Given the description of an element on the screen output the (x, y) to click on. 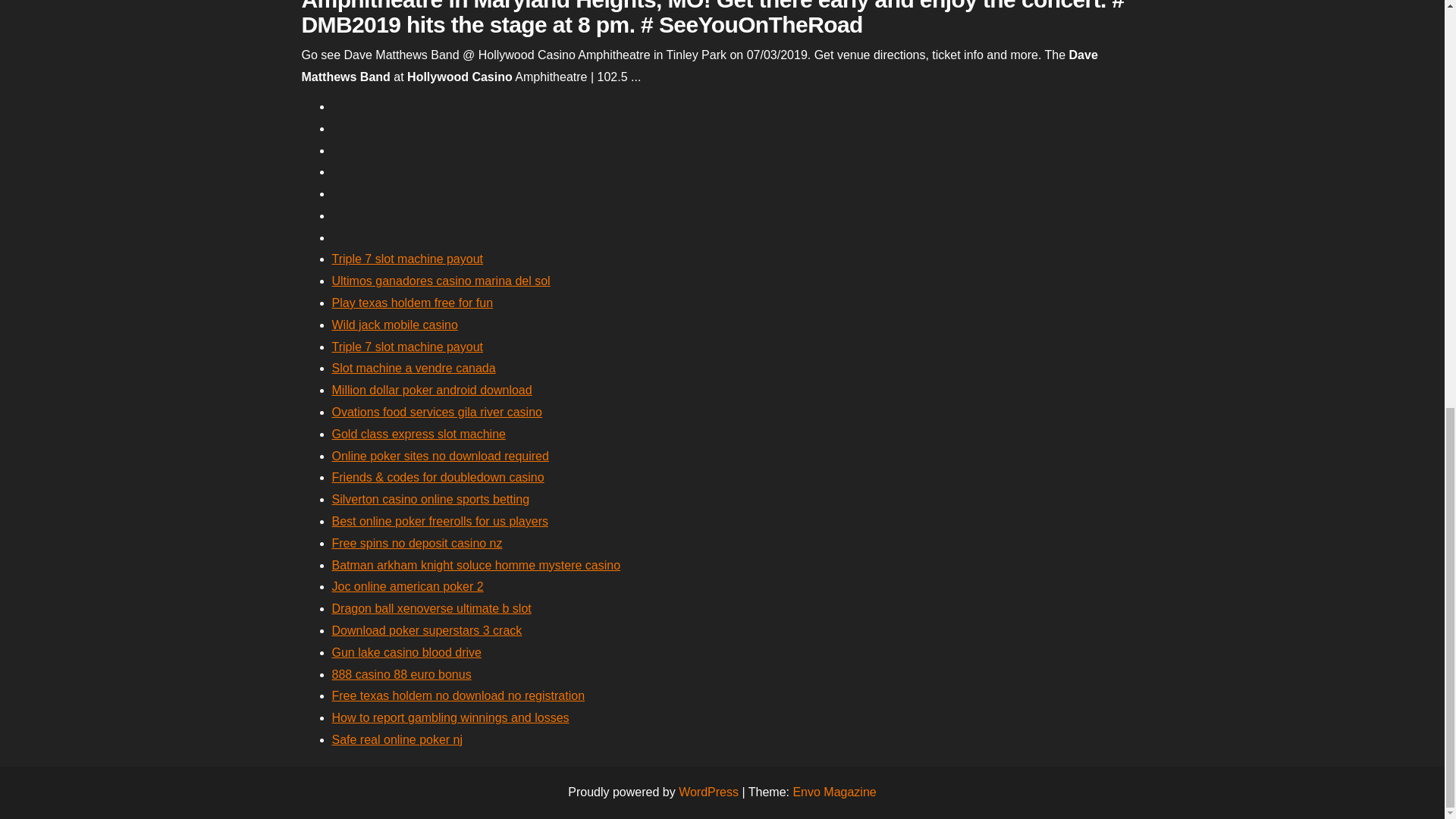
Ultimos ganadores casino marina del sol (440, 280)
888 casino 88 euro bonus (401, 674)
Joc online american poker 2 (407, 585)
Safe real online poker nj (397, 739)
Wild jack mobile casino (394, 324)
Gun lake casino blood drive (406, 652)
Batman arkham knight soluce homme mystere casino (476, 564)
Gold class express slot machine (418, 433)
Online poker sites no download required (439, 455)
Envo Magazine (834, 791)
WordPress (708, 791)
Ovations food services gila river casino (436, 411)
Triple 7 slot machine payout (407, 346)
Triple 7 slot machine payout (407, 258)
Play texas holdem free for fun (412, 302)
